Given the description of an element on the screen output the (x, y) to click on. 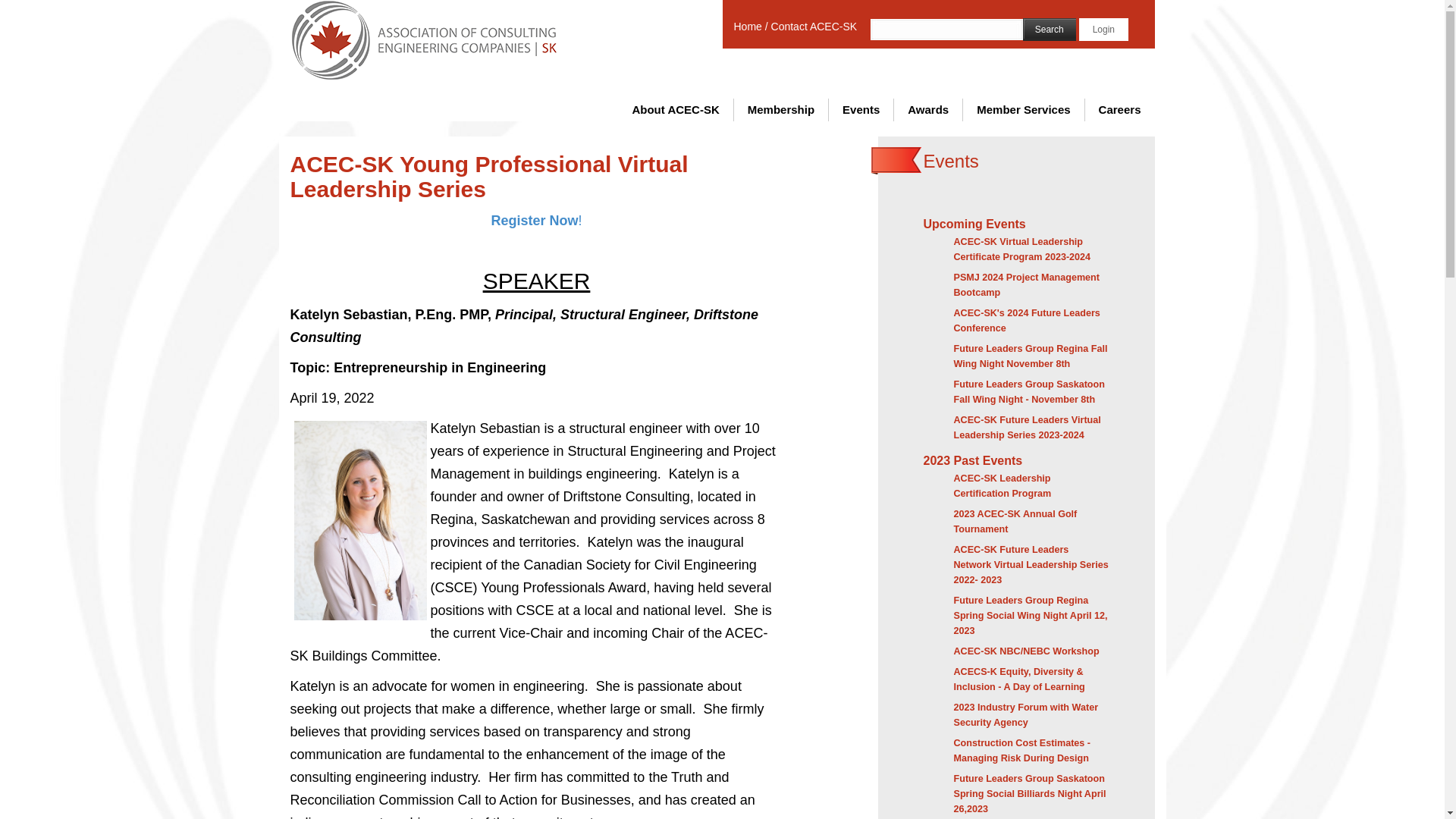
Construction Cost Estimates - Managing Risk During Design Element type: text (1022, 751)
Search Element type: text (1049, 29)
Home Element type: text (748, 26)
2023 Industry Forum with Water Security Agency Element type: text (1025, 716)
ACEC-SK's 2024 Future Leaders Conference Element type: text (1026, 321)
ACEC-SK Leadership Certification Program Element type: text (1002, 487)
About ACEC-SK Element type: text (674, 109)
Membership Element type: text (780, 109)
Events Element type: text (860, 109)
Future Leaders Group Regina Fall Wing Night November 8th Element type: text (1030, 357)
Awards Element type: text (927, 109)
2023 Past Events Element type: text (1016, 461)
ACEC-SK NBC/NEBC Workshop Element type: text (1026, 652)
ACEC-SK Virtual Leadership Certificate Program 2023-2024 Element type: text (1022, 250)
ACEC-SK Future Leaders Virtual Leadership Series 2023-2024 Element type: text (1027, 428)
ACECS-K Equity, Diversity & Inclusion - A Day of Learning Element type: text (1019, 680)
Upcoming Events Element type: text (1016, 225)
PSMJ 2024 Project Management Bootcamp Element type: text (1026, 286)
2023 ACEC-SK Annual Golf Tournament Element type: text (1015, 522)
Member Services Element type: text (1022, 109)
Contact ACEC-SK Element type: text (814, 26)
Careers Element type: text (1120, 109)
Login Element type: text (1103, 29)
Register Now! Element type: text (535, 220)
